Given the description of an element on the screen output the (x, y) to click on. 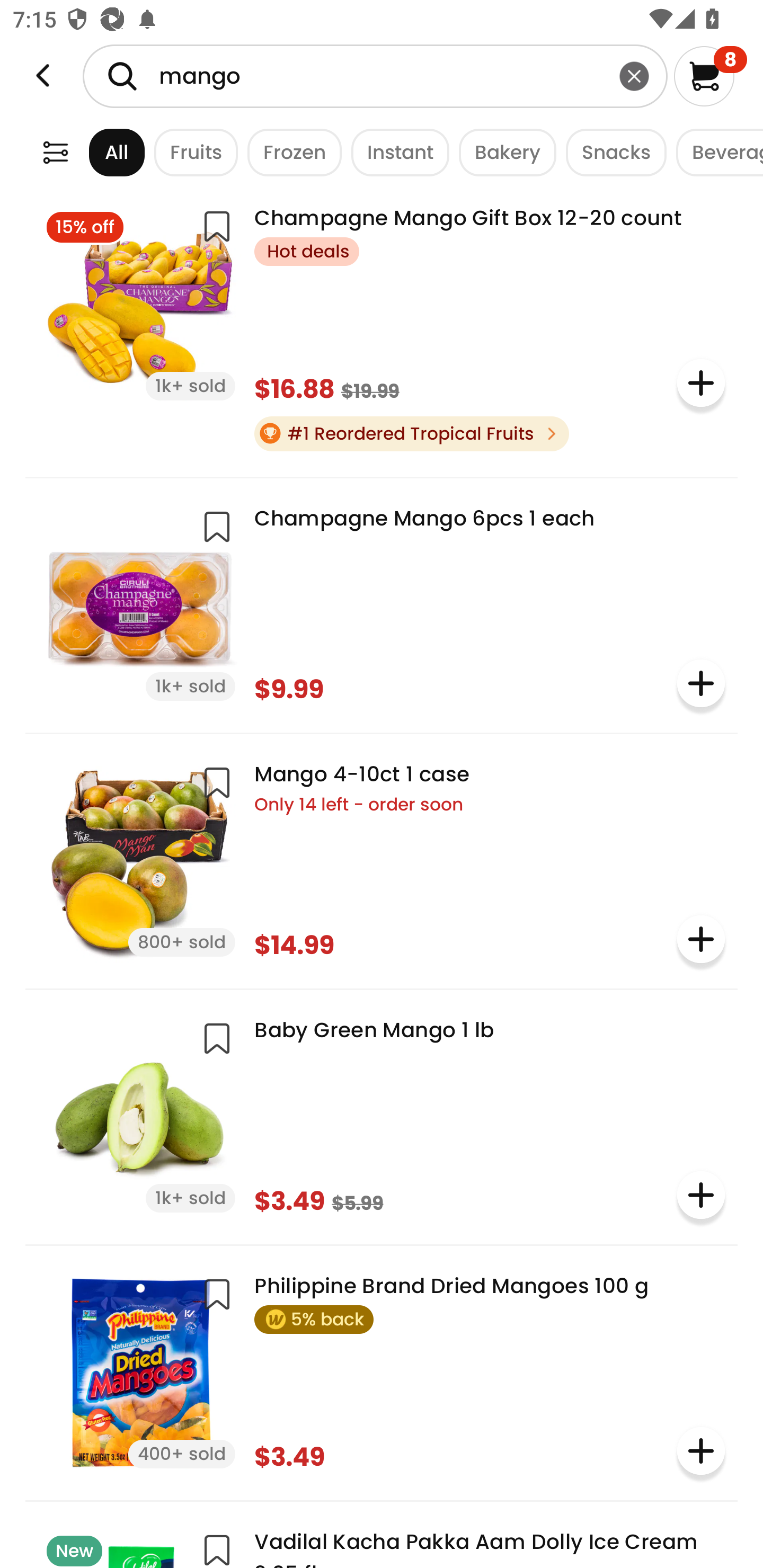
mango (374, 75)
8 (709, 75)
Weee! (42, 76)
Weee! (55, 151)
All (99, 151)
Fruits (191, 151)
Frozen (289, 151)
Instant (395, 151)
Bakery (502, 151)
Snacks (611, 151)
Beverages (714, 151)
Champagne Mango 6pcs 1 each 1k+ sold $9.99 (381, 603)
Baby Green Mango 1 lb 1k+ sold $3.49 $5.99 (381, 1115)
